Given the description of an element on the screen output the (x, y) to click on. 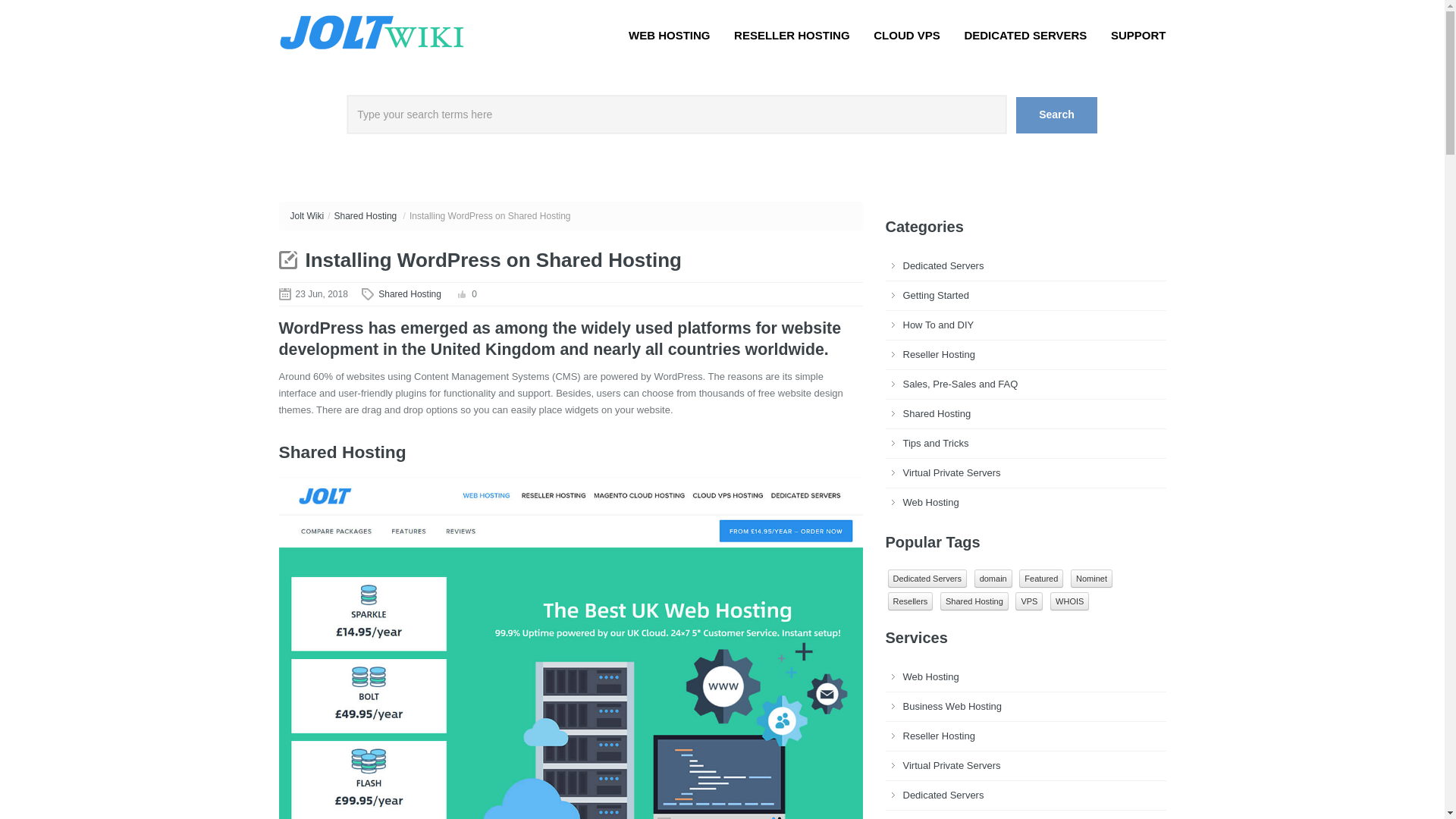
Jolt Wiki (376, 30)
WEB HOSTING (669, 34)
WHOIS (1069, 601)
Shared Hosting (365, 215)
Shared Hosting (974, 601)
Shared Hosting (409, 294)
CLOUD VPS (906, 34)
Getting Started (935, 295)
SUPPORT (1138, 34)
Search (1056, 115)
Dedicated Servers (926, 578)
Web Hosting (930, 676)
Search (1056, 115)
Virtual Private Servers (951, 765)
Reseller Hosting (938, 354)
